Given the description of an element on the screen output the (x, y) to click on. 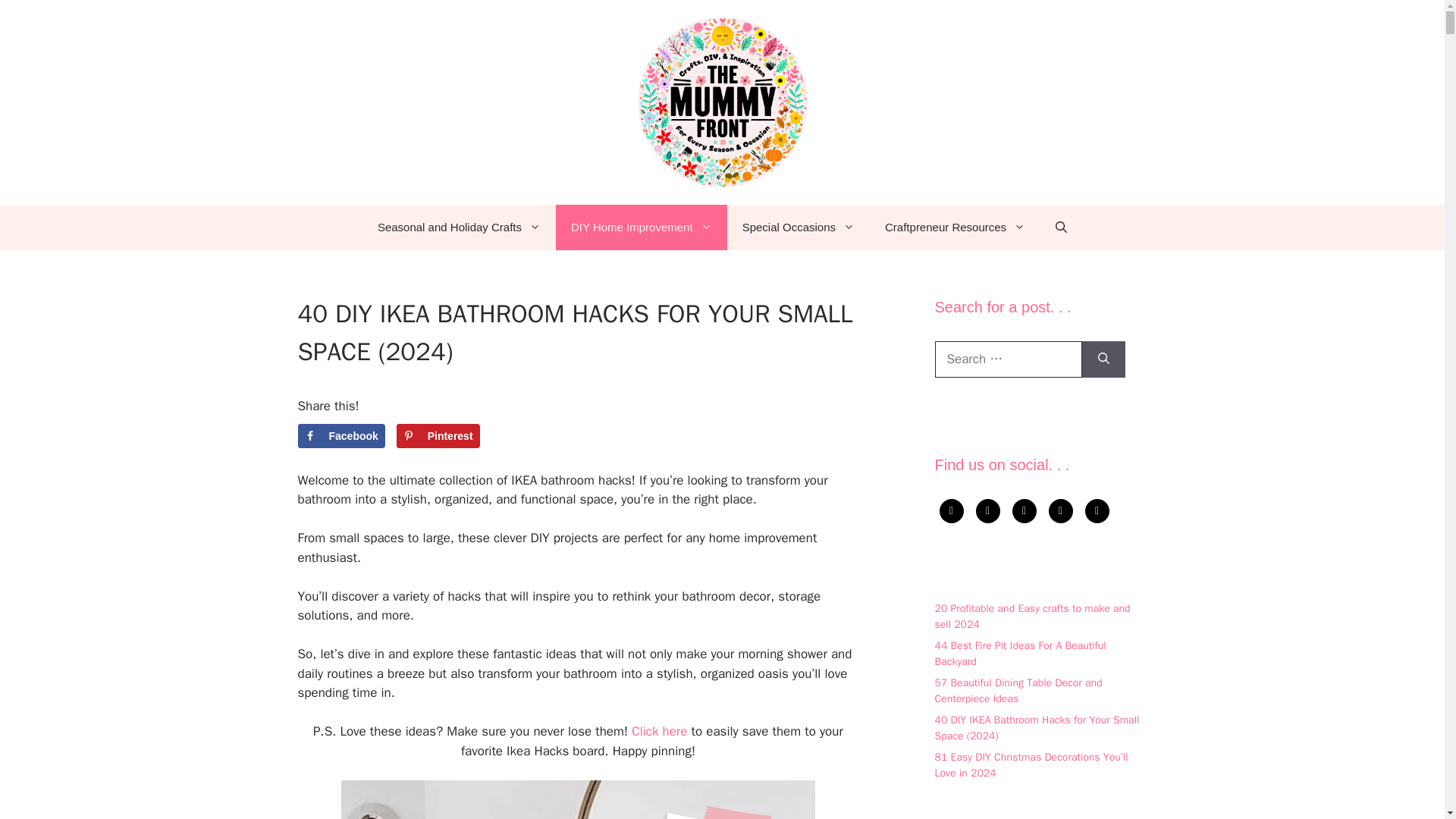
Special Occasions (797, 227)
Pinterest (438, 435)
Save to Pinterest (438, 435)
Seasonal and Holiday Crafts (459, 227)
DIY Home Improvement (641, 227)
Search for: (1007, 359)
Facebook (340, 435)
Craftpreneur Resources (955, 227)
Click here (659, 731)
Share on Facebook (340, 435)
